Given the description of an element on the screen output the (x, y) to click on. 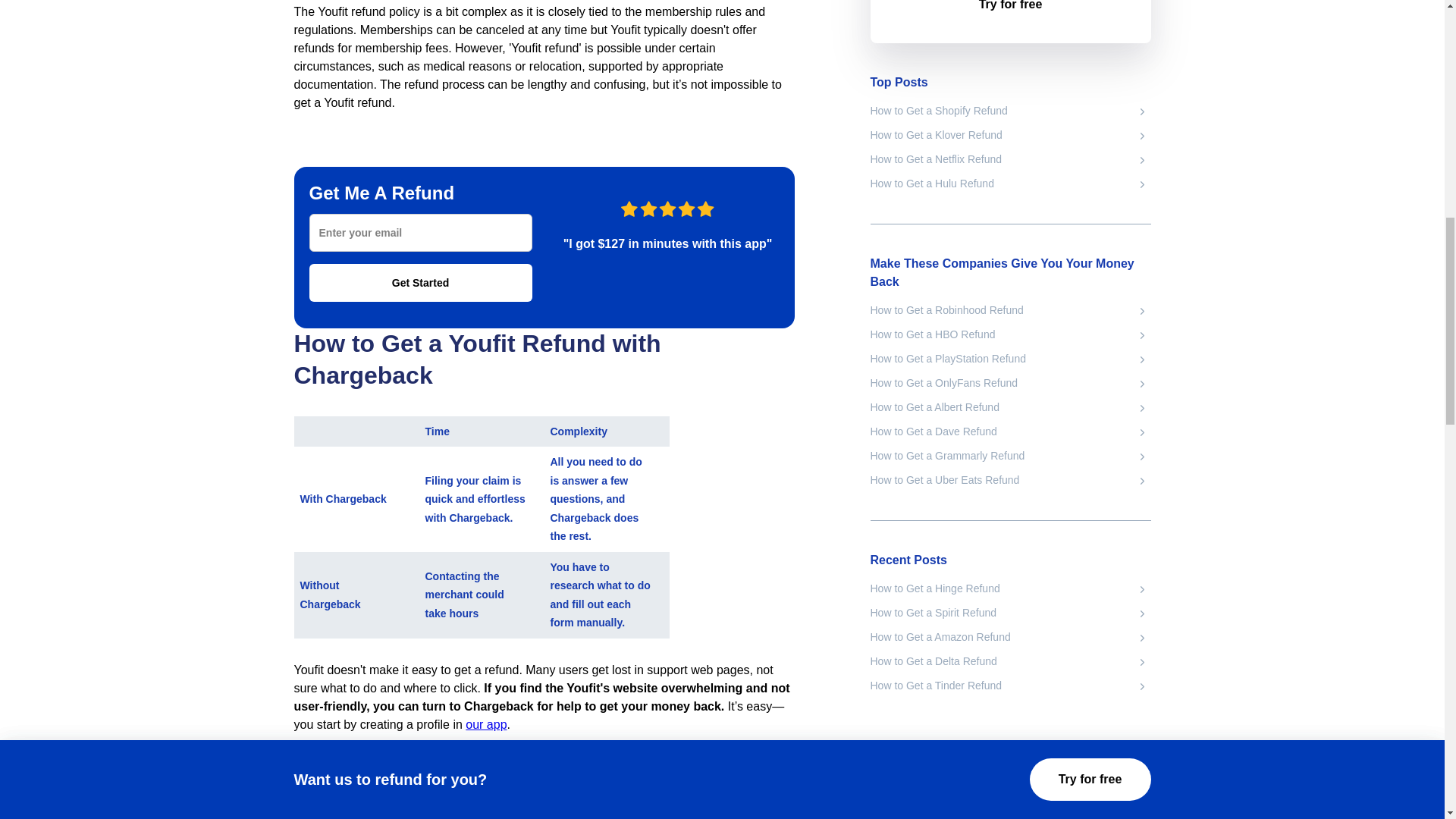
How to Get a Dave Refund (1010, 432)
How to Get a Klover Refund (1010, 135)
How to Get a Hinge Refund (1010, 589)
How to Get a OnlyFans Refund (1010, 384)
How to Get a Robinhood Refund (1010, 311)
Get Started (420, 282)
How to Get a Tinder Refund (1010, 686)
How to Get a Amazon Refund (1010, 638)
How to Get a Netflix Refund (1010, 159)
Try for free (1010, 12)
How to Get a Uber Eats Refund (1010, 480)
How to Get a Spirit Refund (1010, 613)
Get Started (420, 282)
How to Get a Albert Refund (1010, 407)
How to Get a HBO Refund (1010, 334)
